Given the description of an element on the screen output the (x, y) to click on. 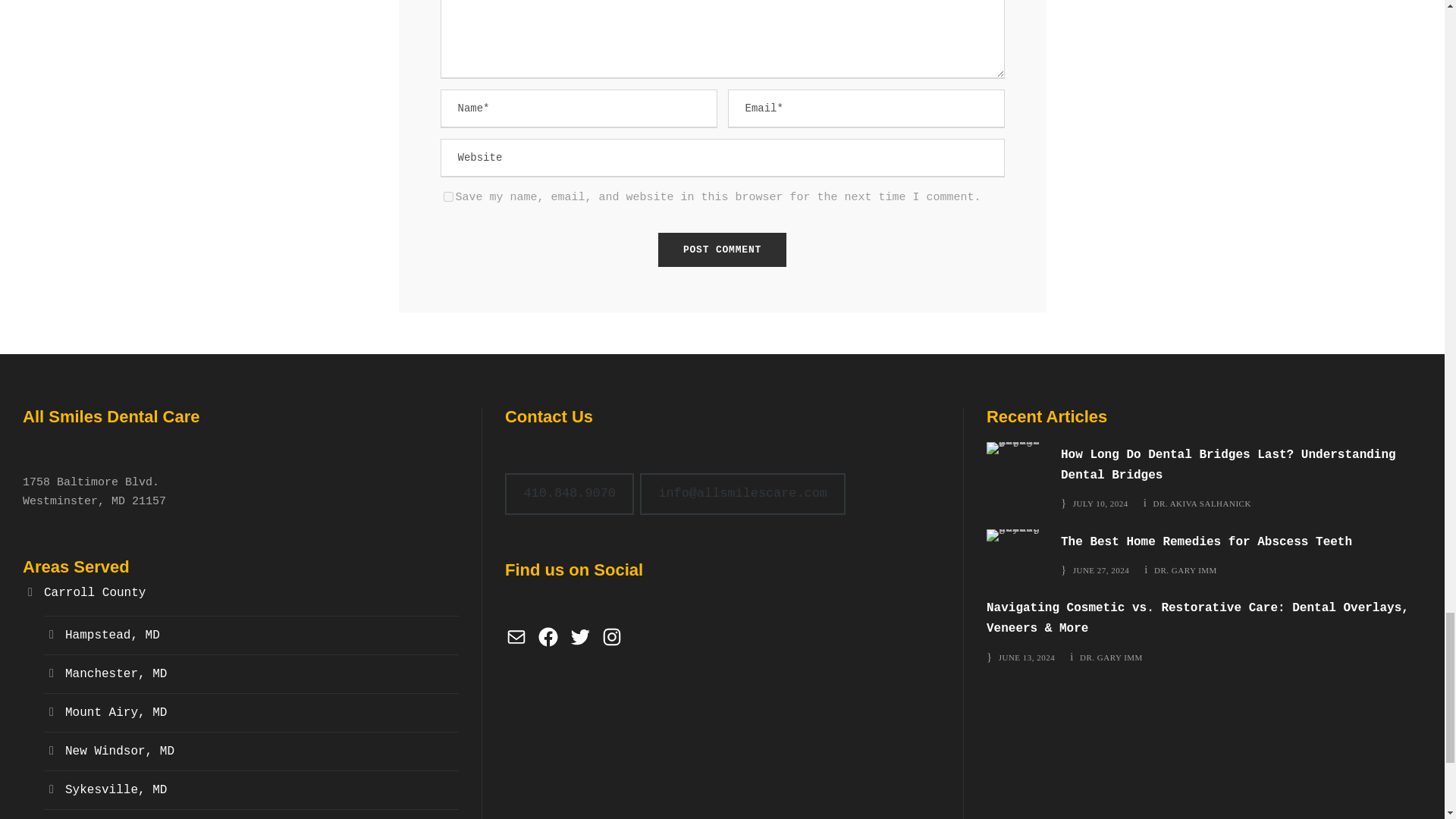
Posts by Dr. Gary Imm (1111, 656)
yes (447, 196)
Posts by Dr. Akiva Salhanick (1201, 502)
Posts by Dr. Gary Imm (1185, 569)
Post Comment (722, 249)
